Given the description of an element on the screen output the (x, y) to click on. 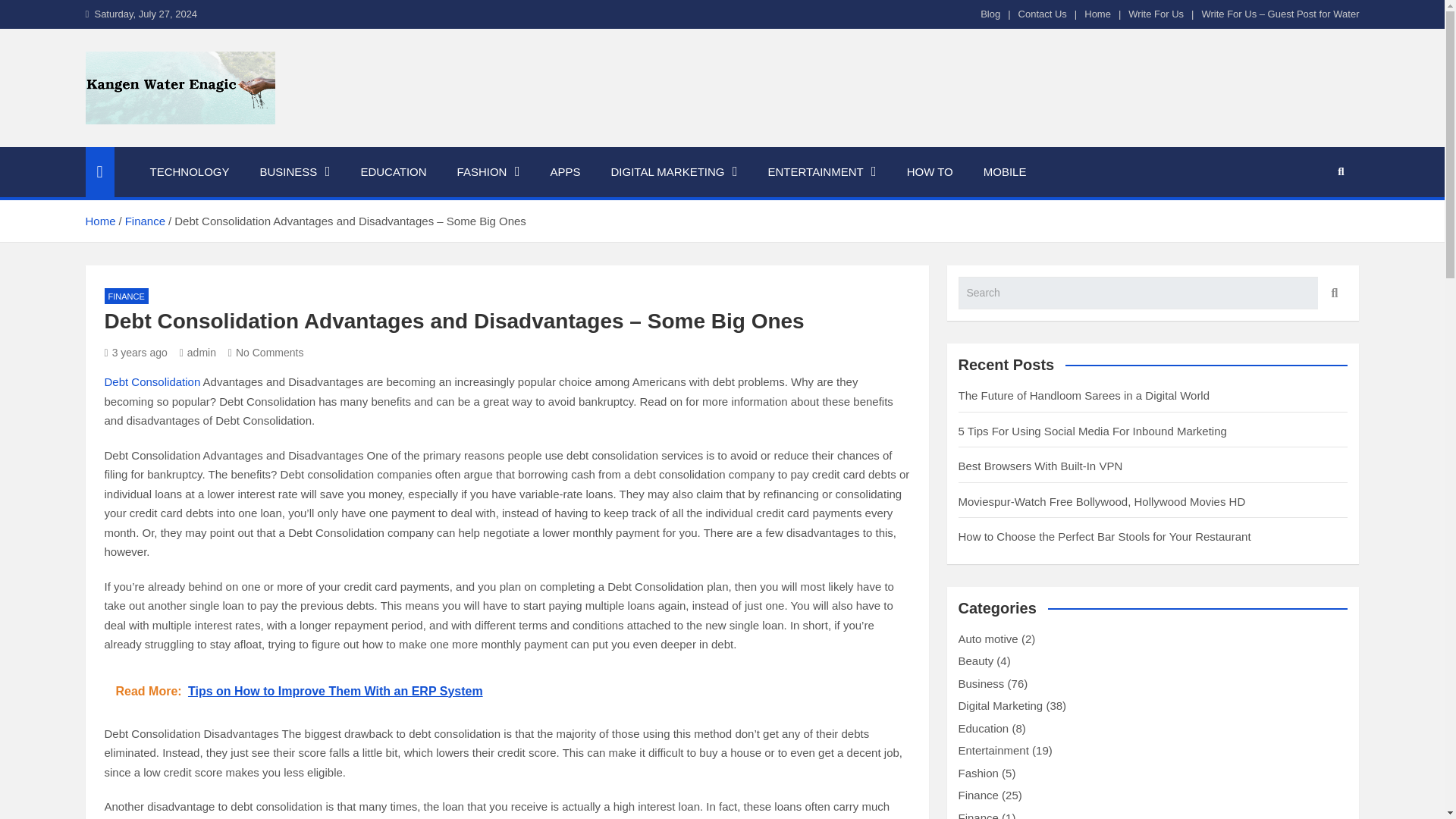
Write For Us (1155, 13)
Home (1097, 13)
HOW TO (929, 172)
3 years ago (135, 352)
Home (99, 220)
Blog (989, 13)
MOBILE (1005, 172)
ENTERTAINMENT (821, 172)
DIGITAL MARKETING (673, 172)
Debt Consolidation (152, 381)
admin (197, 352)
Kangen Water Enagic (240, 143)
EDUCATION (393, 172)
APPS (564, 172)
Contact Us (1042, 13)
